Given the description of an element on the screen output the (x, y) to click on. 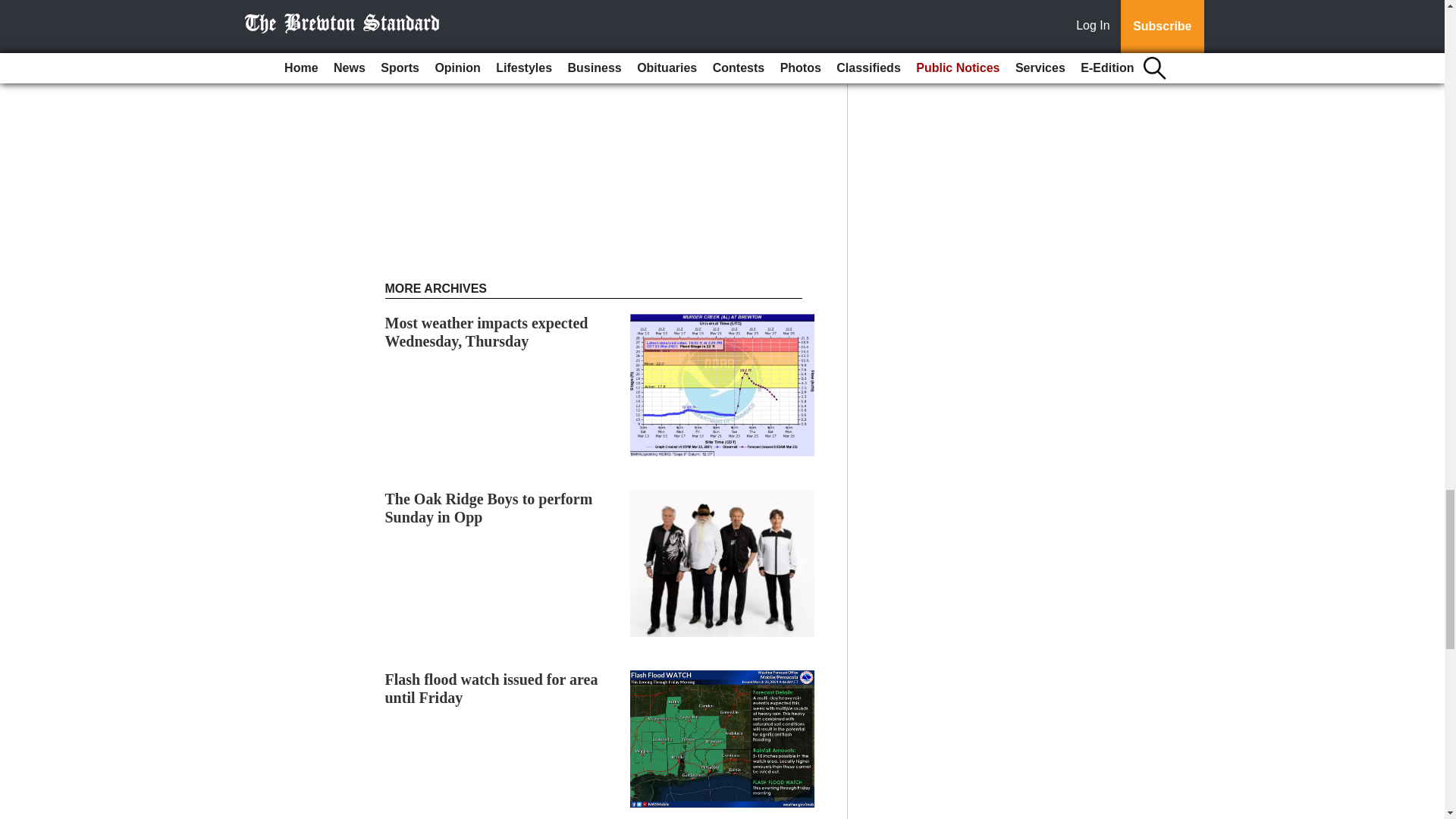
Flash flood watch issued for area until Friday (491, 687)
Flash flood watch issued for area until Friday (491, 687)
Most weather impacts expected Wednesday, Thursday (486, 331)
Most weather impacts expected Wednesday, Thursday (486, 331)
The Oak Ridge Boys to perform Sunday in Opp (488, 507)
The Oak Ridge Boys to perform Sunday in Opp (488, 507)
